Given the description of an element on the screen output the (x, y) to click on. 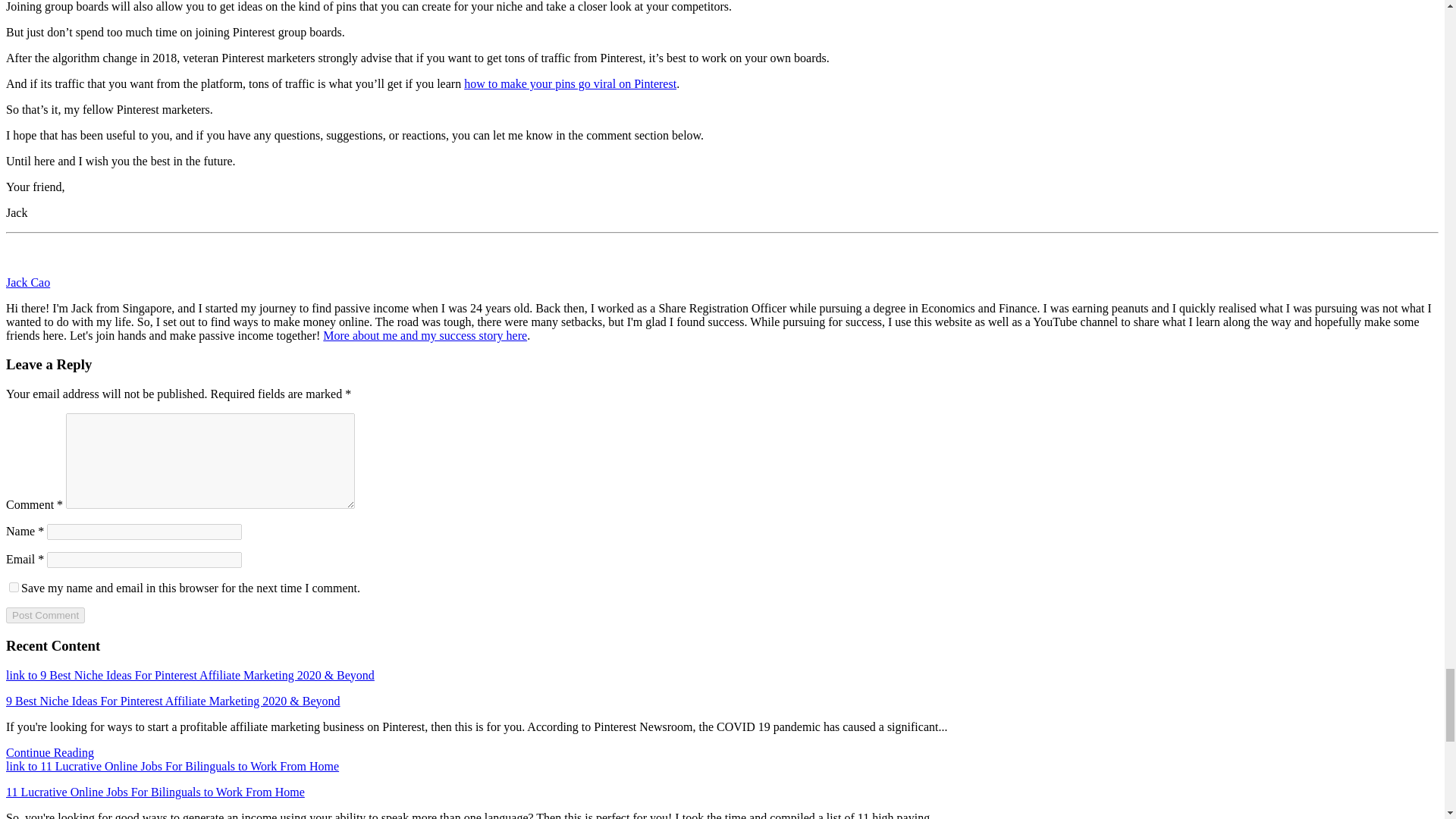
yes (13, 587)
how to make your pins go viral on Pinterest (570, 83)
Post Comment (44, 615)
More about me and my success story here (425, 335)
11 Lucrative Online Jobs For Bilinguals to Work From Home (154, 791)
Jack Cao (27, 282)
Post Comment (44, 615)
Continue Reading (49, 752)
